Given the description of an element on the screen output the (x, y) to click on. 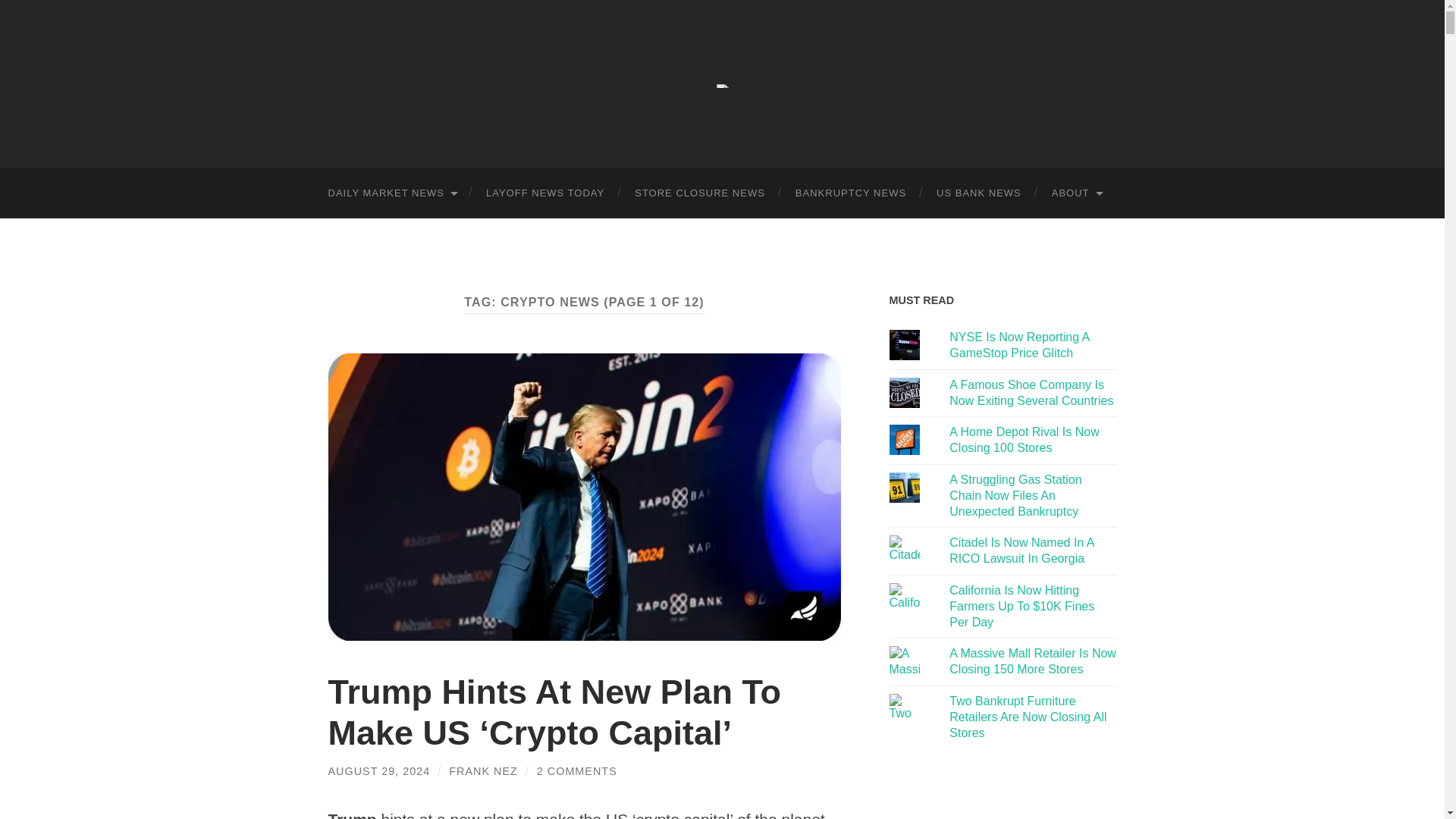
BANKRUPTCY NEWS (850, 192)
Posts by Frank Nez (483, 770)
NYSE Is Now Reporting A GameStop Price Glitch (1019, 344)
2 COMMENTS (577, 770)
LAYOFF NEWS TODAY (545, 192)
US BANK NEWS (978, 192)
ABOUT (1076, 192)
Franknez.com (722, 85)
A Home Depot Rival Is Now Closing 100 Stores (1024, 439)
